Given the description of an element on the screen output the (x, y) to click on. 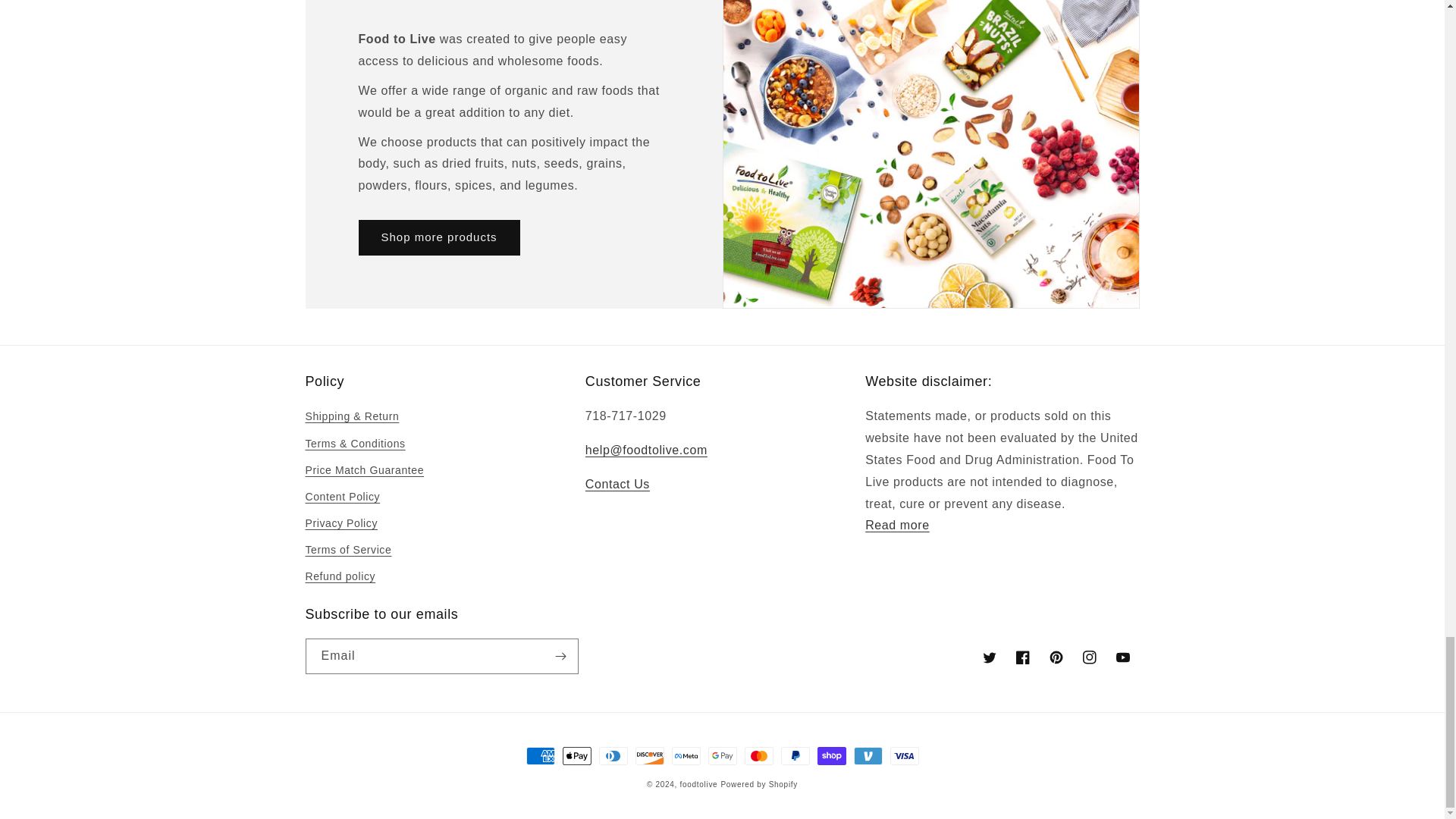
Contact (617, 483)
Privacy Policy (897, 524)
